Given the description of an element on the screen output the (x, y) to click on. 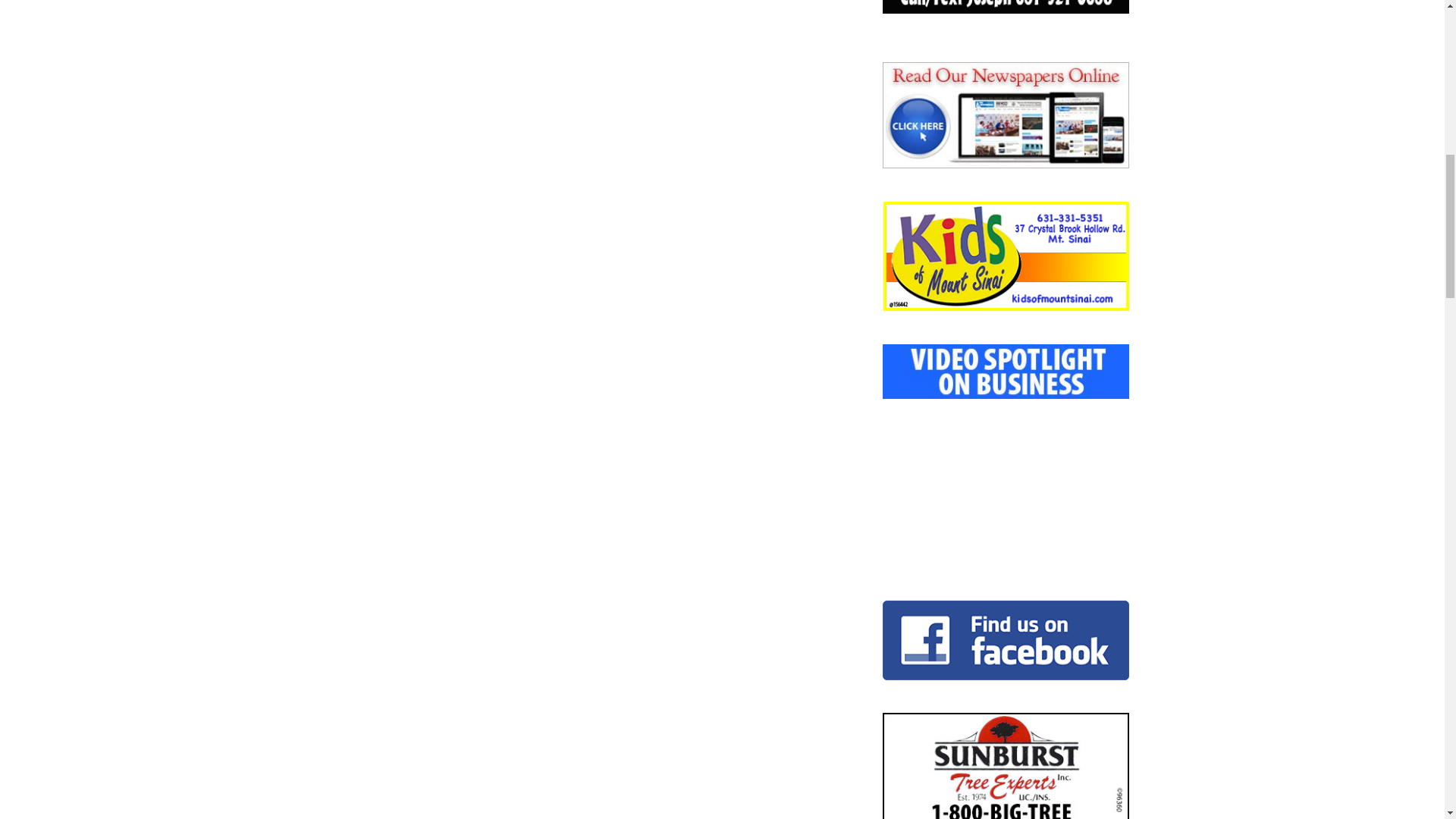
YouTube video player (1005, 472)
Sunburst (1005, 765)
Joseph - Property Management (1005, 6)
Kids of Mount Sinai (1005, 256)
